Given the description of an element on the screen output the (x, y) to click on. 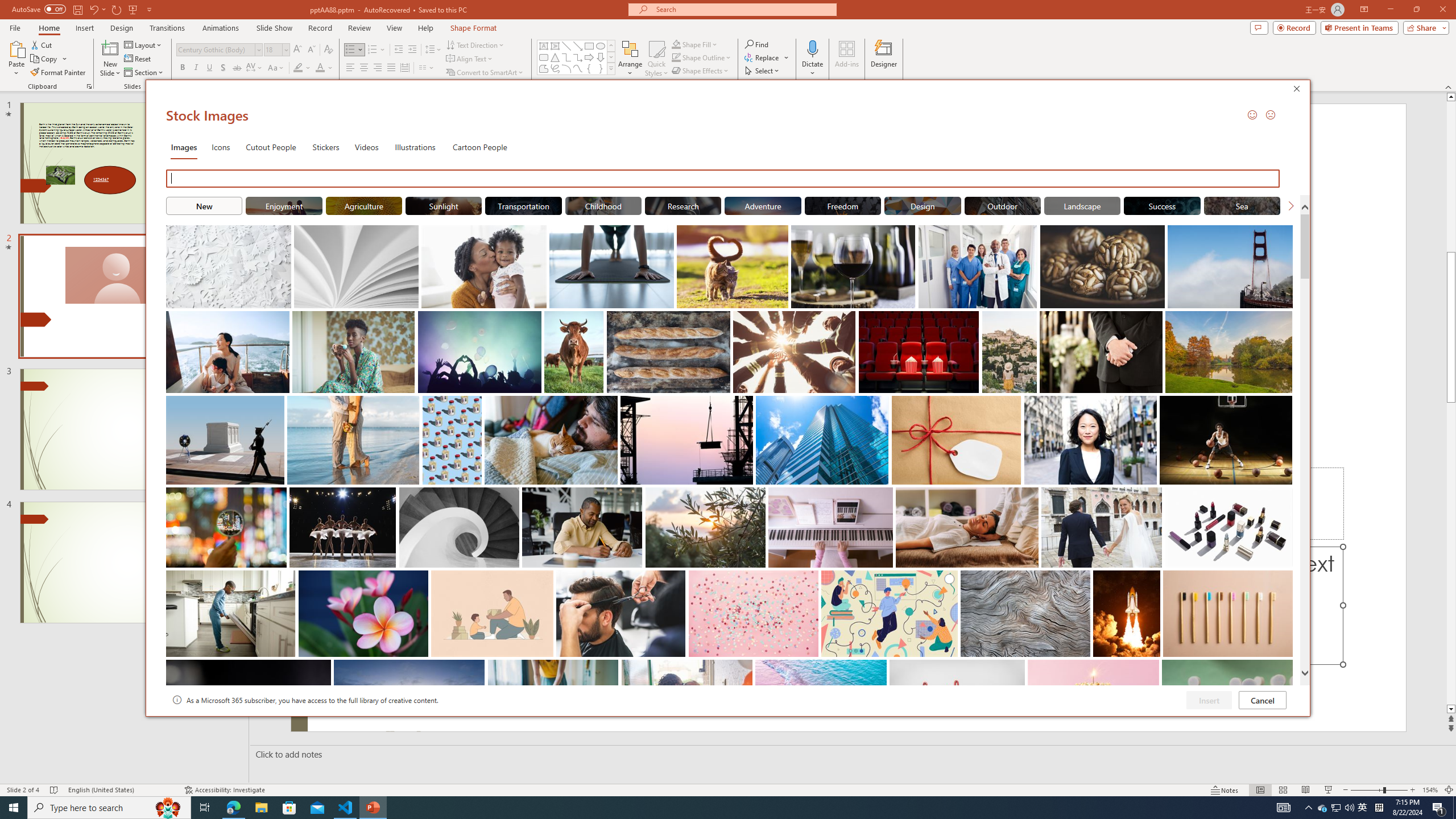
Shape Effects (700, 69)
Images (183, 146)
Zoom 154% (1430, 790)
